Given the description of an element on the screen output the (x, y) to click on. 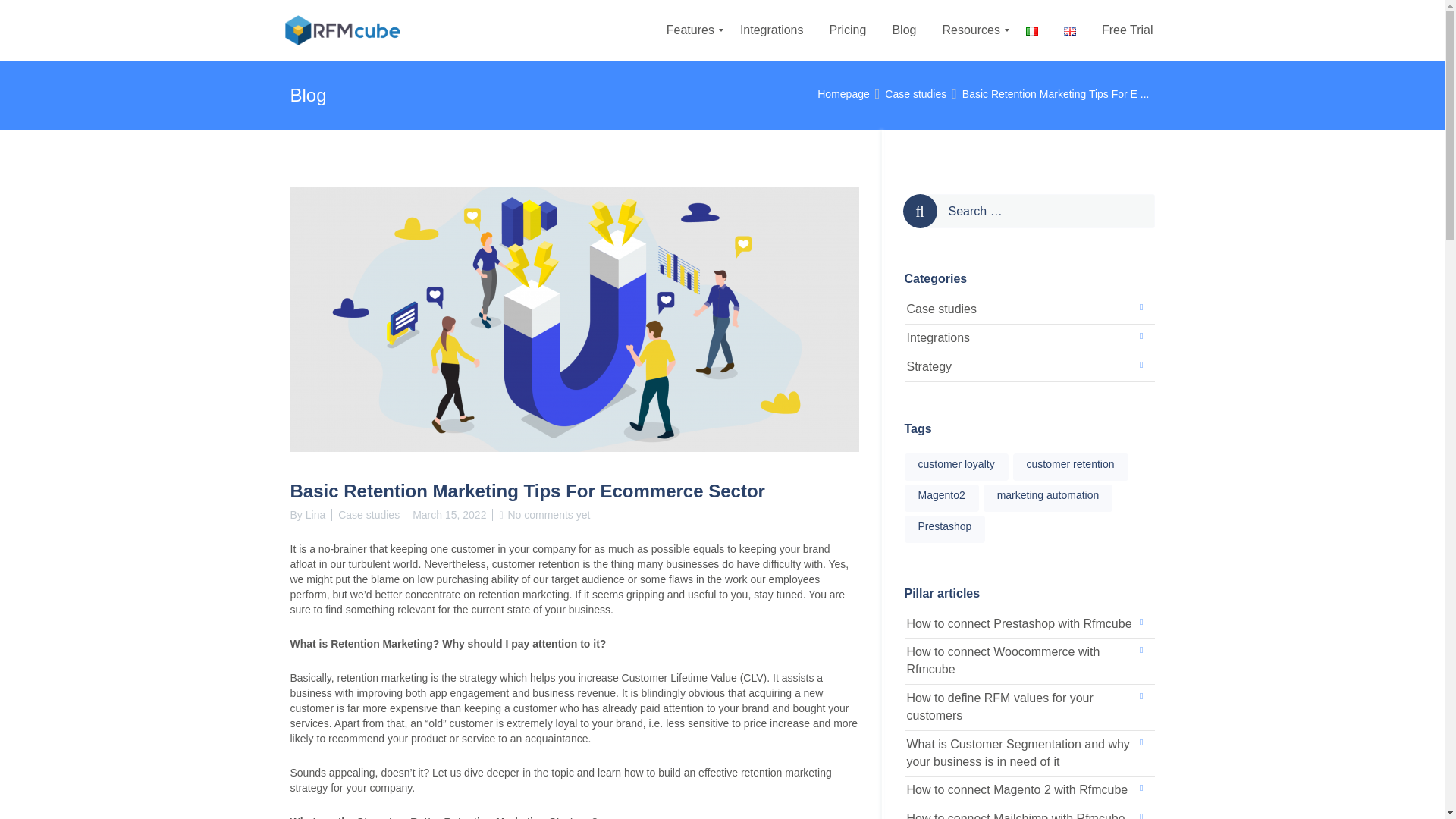
How to connect Woocommerce with Rfmcube (1029, 660)
Case studies (915, 93)
Resources (969, 30)
marketing automation (1048, 497)
Case studies (1029, 309)
Integrations (771, 30)
English (1069, 31)
Free Trial (1127, 30)
Features (689, 30)
Blog (903, 30)
Prestashop (944, 528)
customer retention (1070, 466)
Italiano (1032, 31)
Integrations (1029, 338)
No comments yet (547, 514)
